Given the description of an element on the screen output the (x, y) to click on. 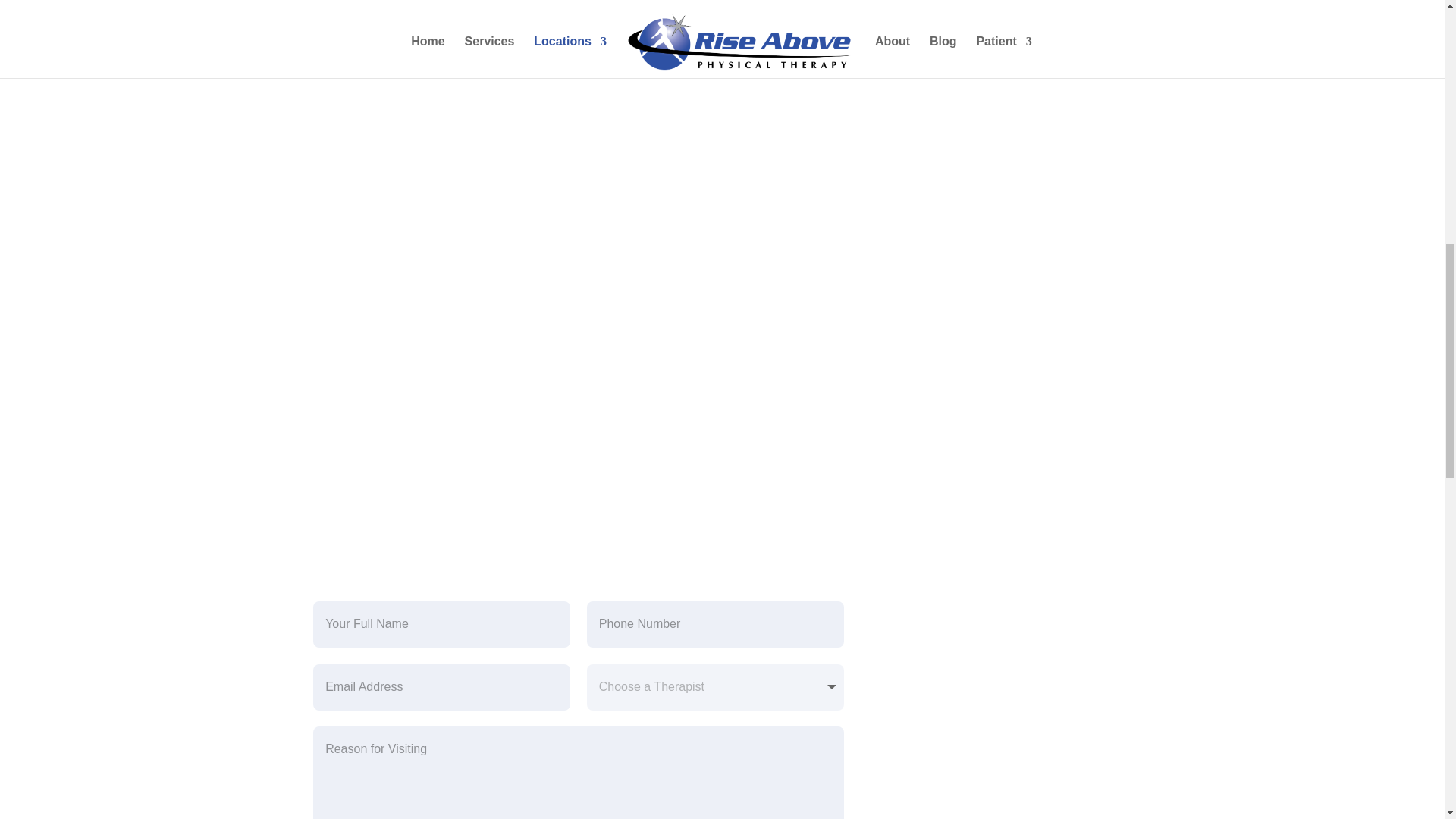
Only numbers allowed. (715, 624)
